Given the description of an element on the screen output the (x, y) to click on. 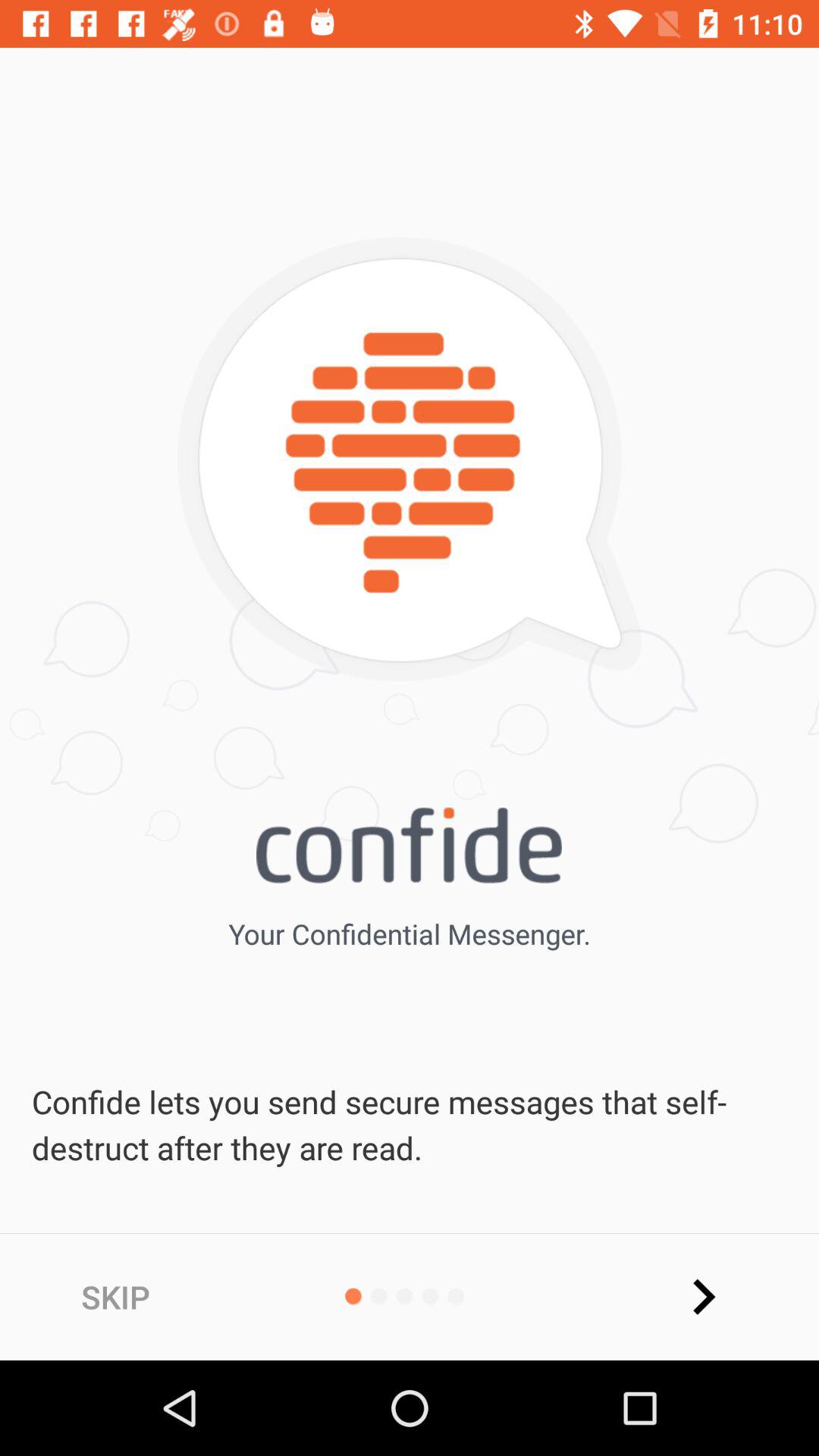
choose the skip at the bottom left corner (114, 1296)
